Given the description of an element on the screen output the (x, y) to click on. 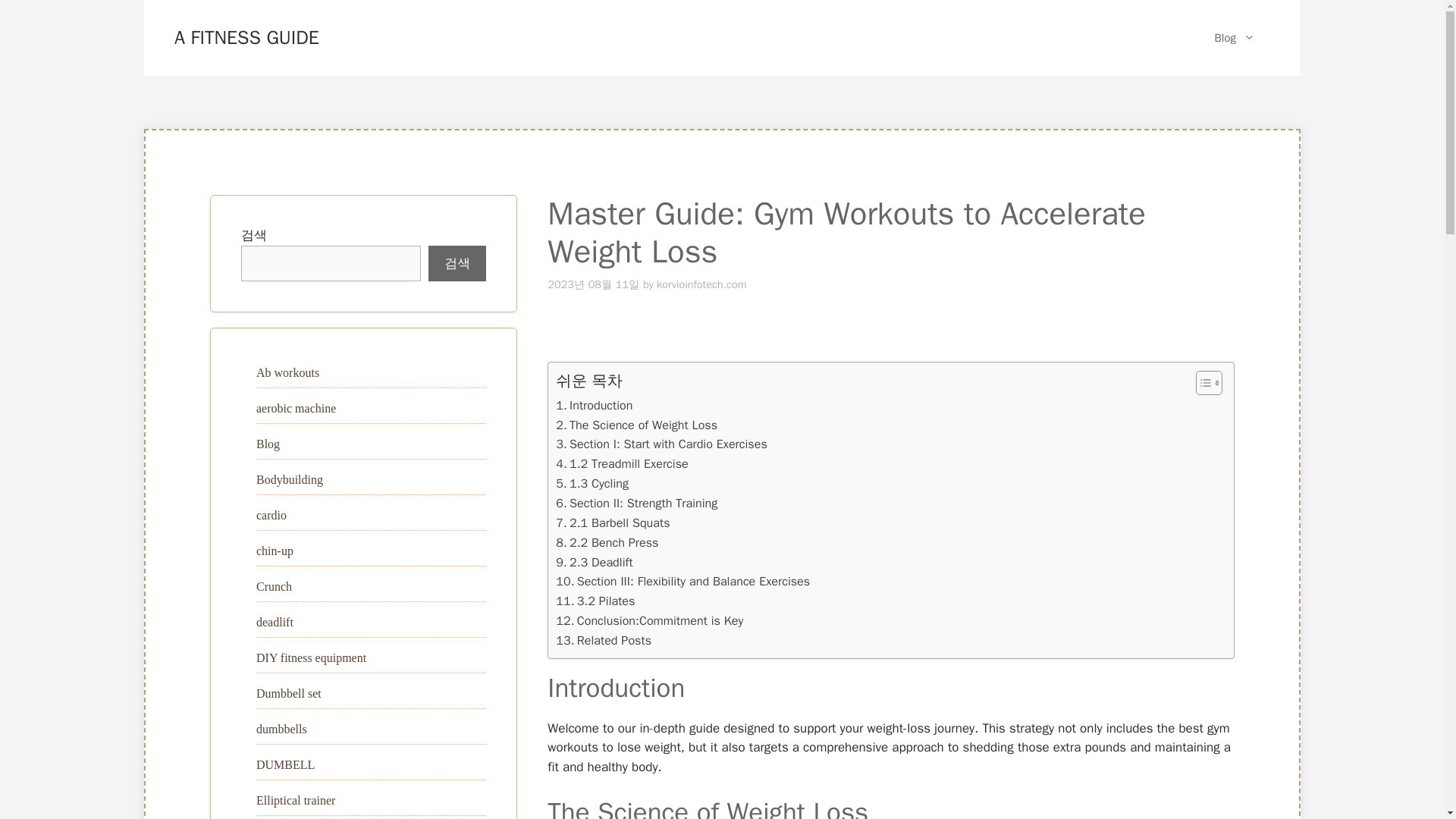
2.1 Barbell Squats (612, 523)
Introduction (593, 405)
Section I: Start with Cardio Exercises (661, 444)
2.3 Deadlift (593, 562)
2.3 Deadlift (593, 562)
3.2 Pilates (595, 600)
Conclusion:Commitment is Key (649, 620)
Introduction (593, 405)
Blog (267, 443)
Section II: Strength Training (636, 503)
Section III: Flexibility and Balance Exercises (682, 581)
1.2 Treadmill Exercise (621, 464)
View all posts by korvioinfotech.com (701, 284)
1.3 Cycling (592, 483)
Ab workouts (287, 372)
